Given the description of an element on the screen output the (x, y) to click on. 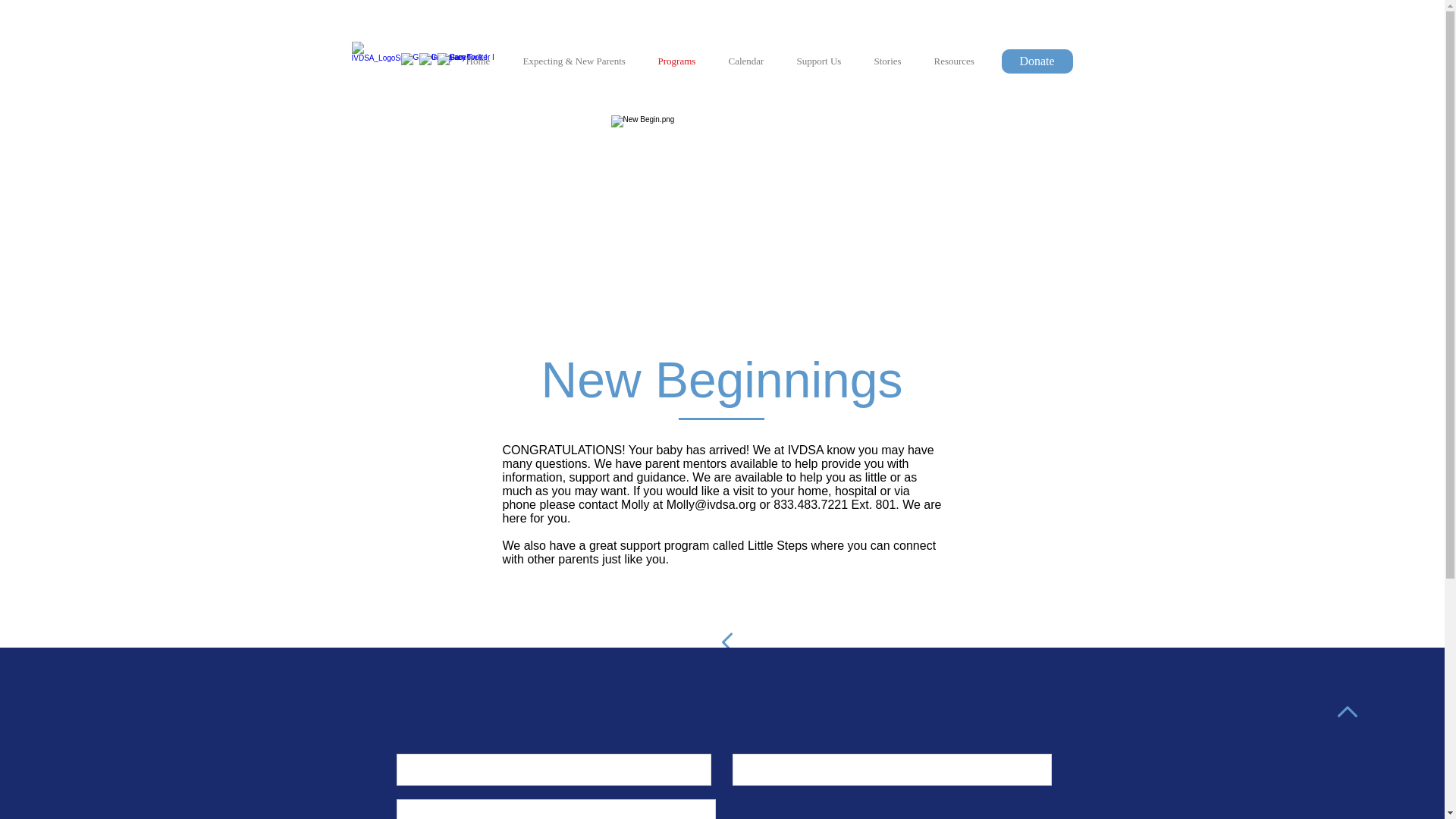
Donate (1036, 61)
Support Us (824, 61)
Home (483, 61)
Calendar (751, 61)
Programs (681, 61)
Stories (893, 61)
Resources (957, 61)
